Given the description of an element on the screen output the (x, y) to click on. 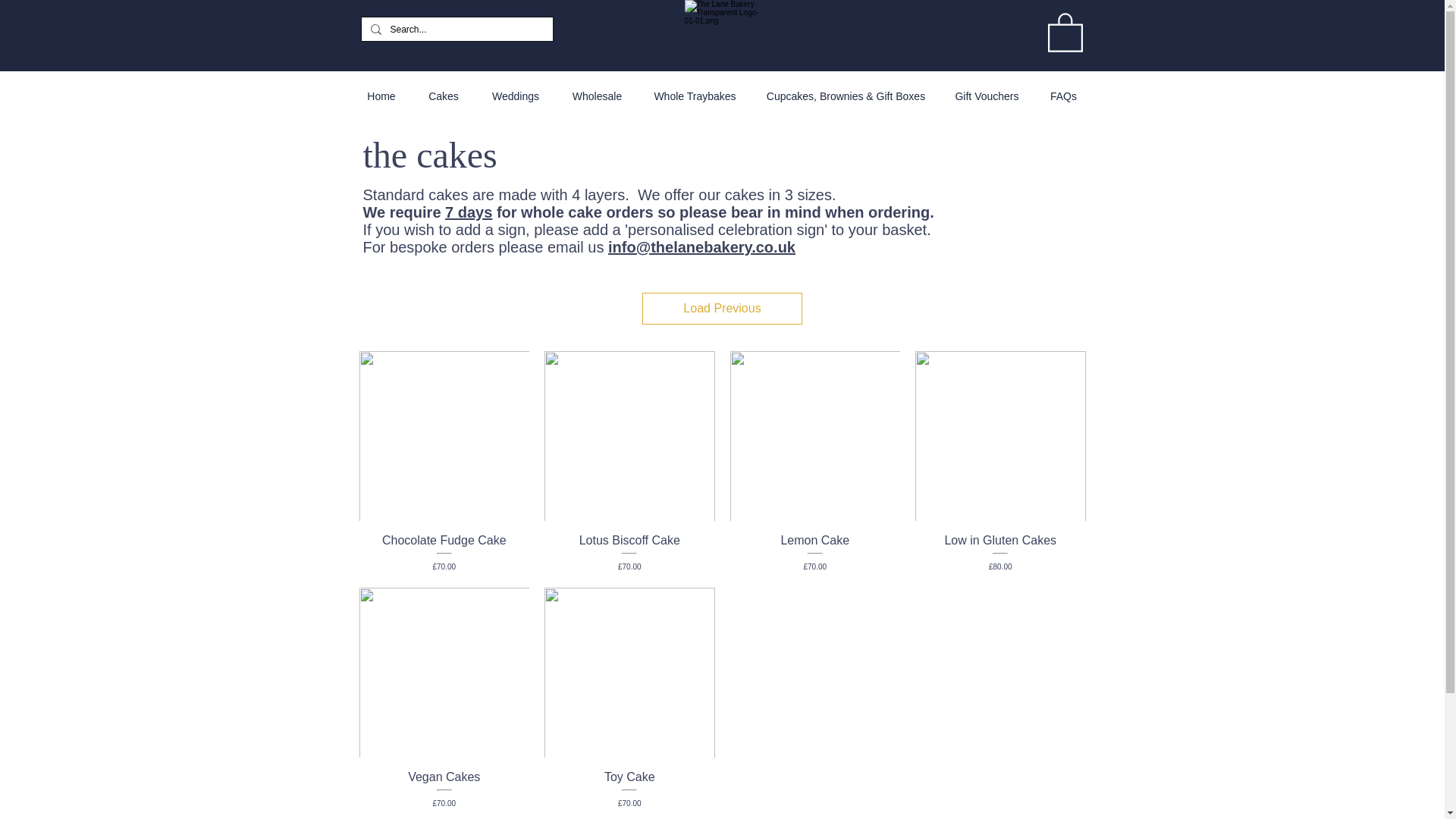
Wholesale (597, 95)
Load Previous (722, 308)
Gift Vouchers (986, 95)
FAQs (1063, 95)
Cakes (444, 95)
Home (381, 95)
Whole Traybakes (695, 95)
Weddings (515, 95)
